Given the description of an element on the screen output the (x, y) to click on. 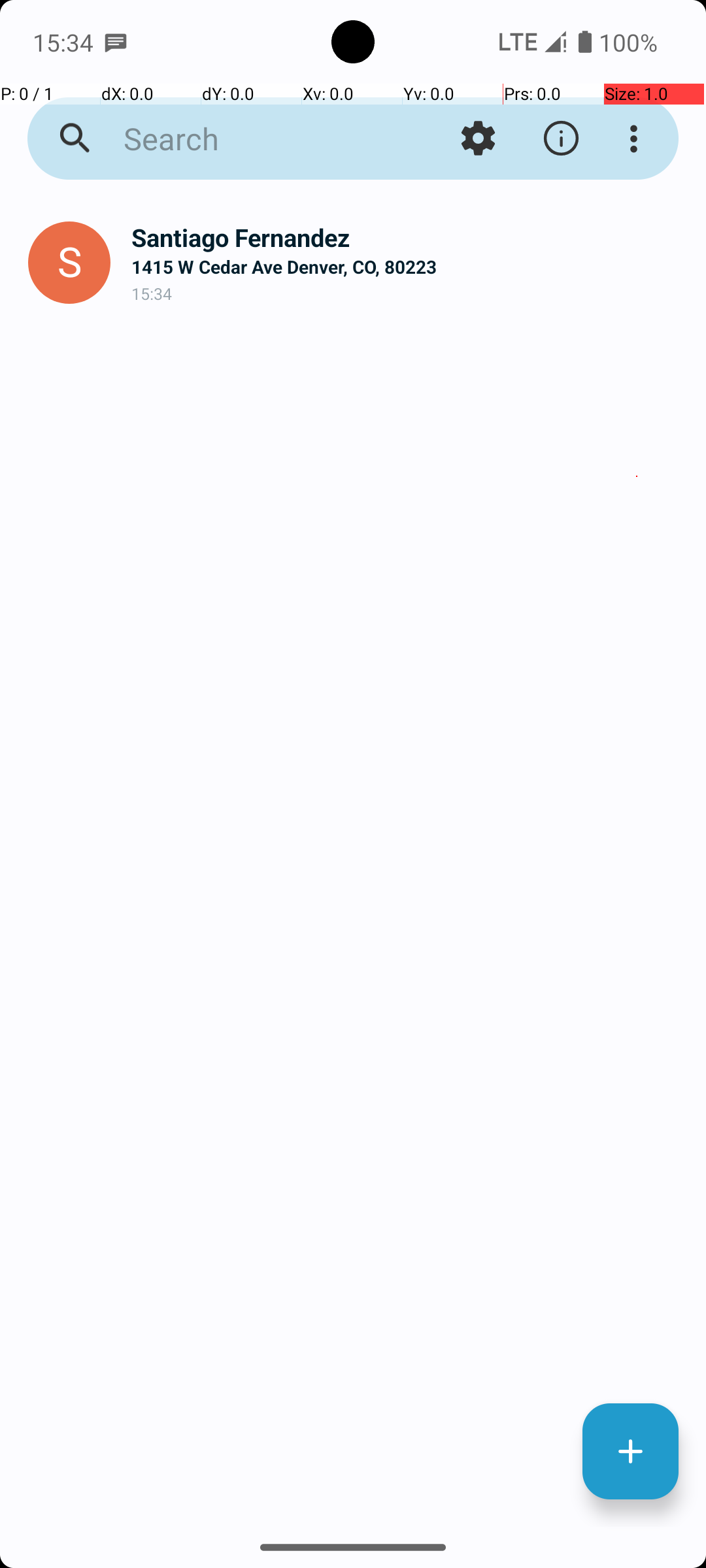
Santiago Fernandez Element type: android.widget.TextView (408, 237)
1415 W Cedar Ave Denver, CO, 80223 Element type: android.widget.TextView (408, 266)
SMS Messenger notification: Santiago Fernandez Element type: android.widget.ImageView (115, 41)
